Given the description of an element on the screen output the (x, y) to click on. 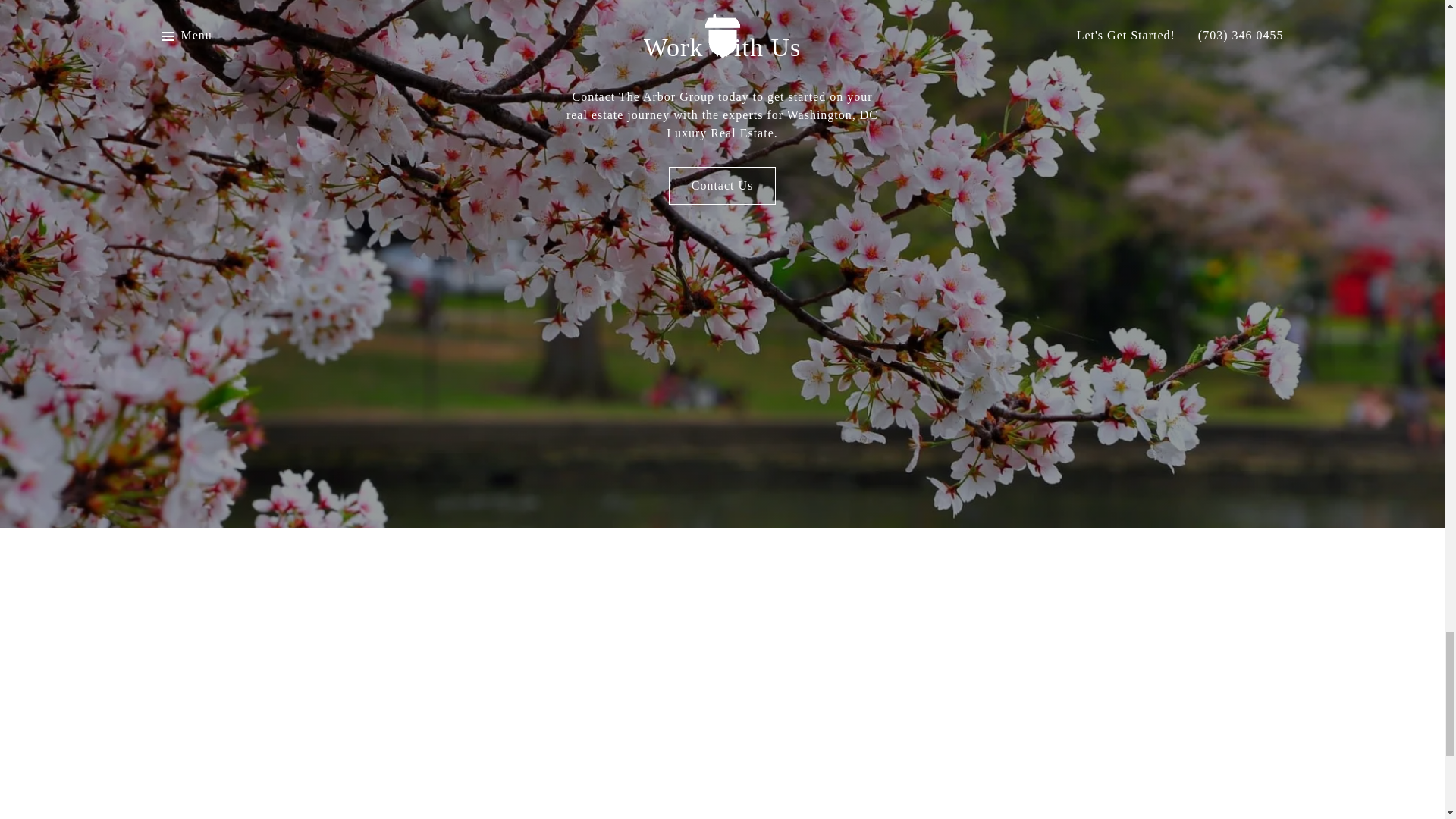
Contact Us (722, 185)
